Given the description of an element on the screen output the (x, y) to click on. 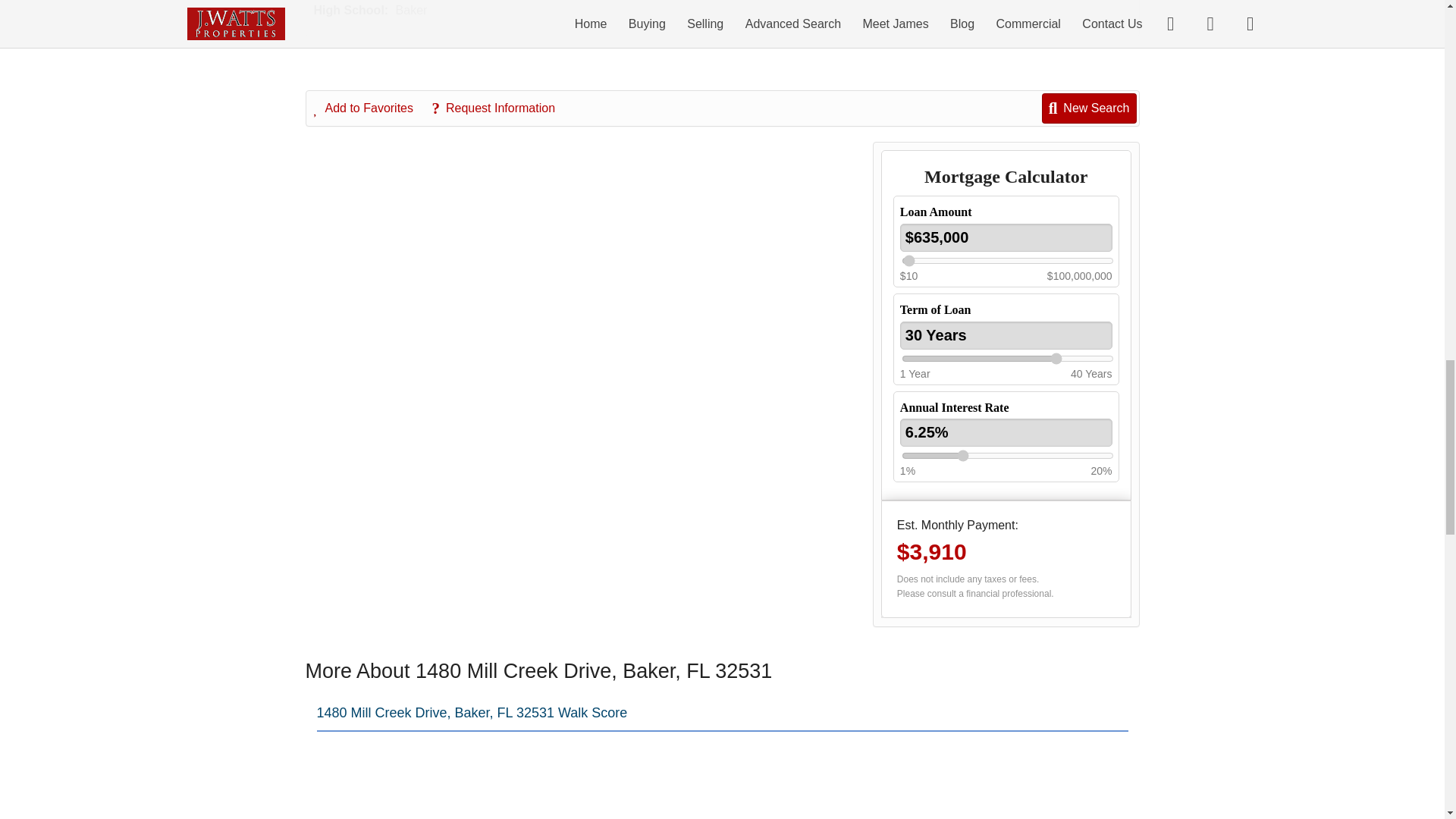
30 Years (1005, 335)
30 (1007, 358)
635000 (1007, 260)
6.25 (1007, 455)
